Given the description of an element on the screen output the (x, y) to click on. 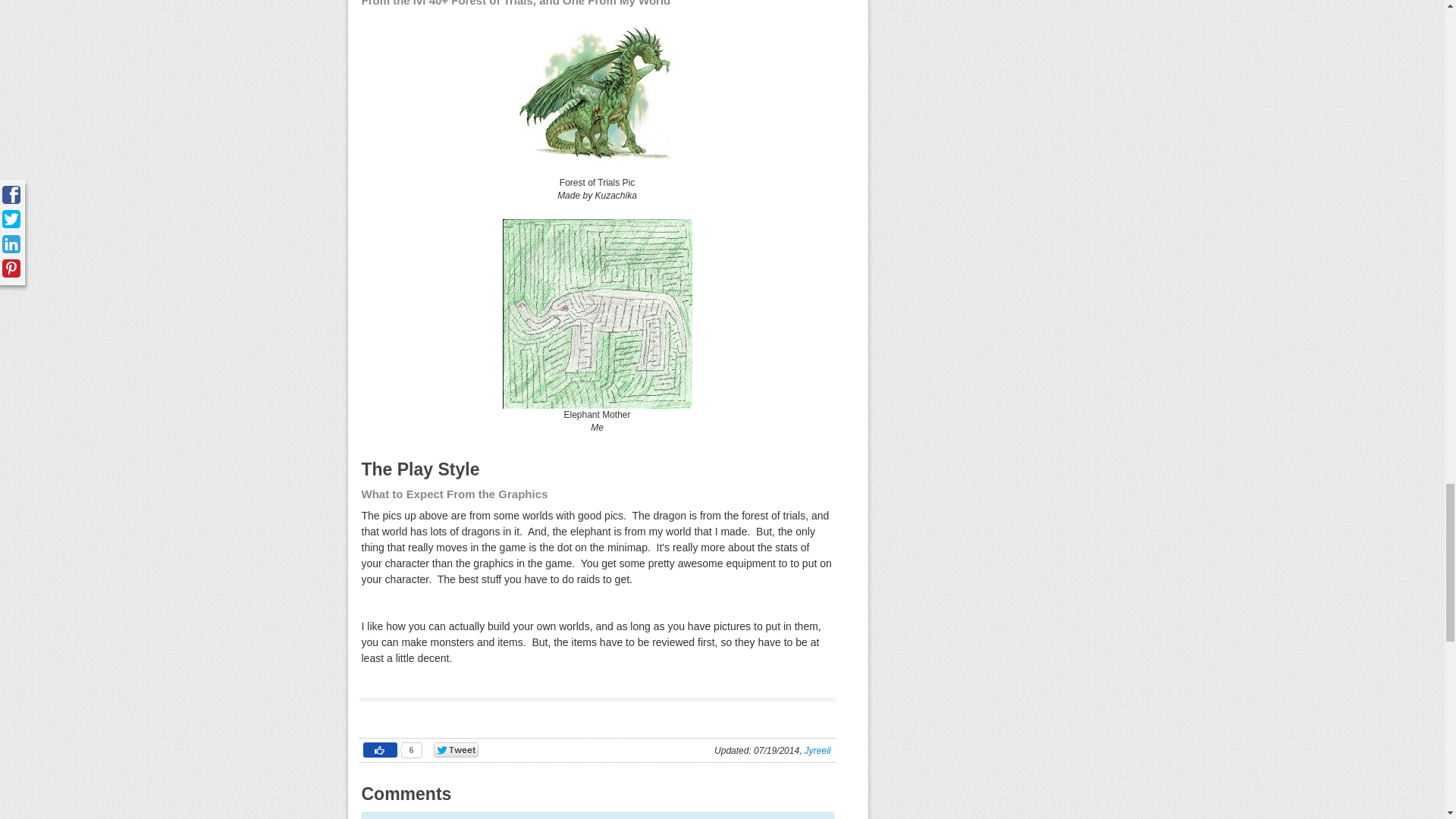
Login (586, 818)
Me (597, 427)
Jyreeil (818, 750)
Elephant Mother (596, 313)
Forest of Trials Pic (596, 95)
Made by Kuzachika (597, 195)
